Given the description of an element on the screen output the (x, y) to click on. 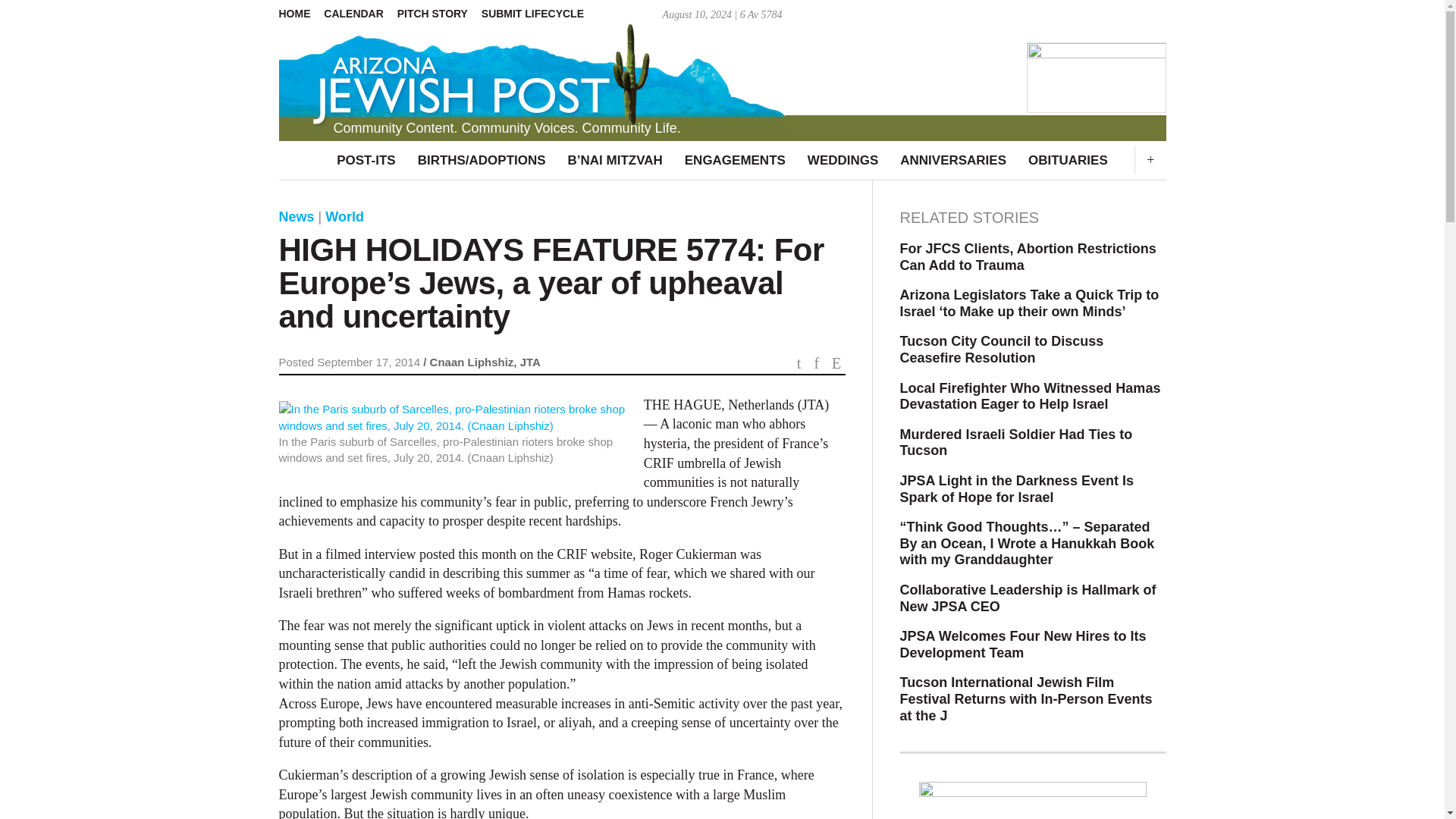
Tucson City Council to Discuss Ceasefire Resolution (1032, 349)
Tucson City Council to Discuss Ceasefire Resolution (1032, 349)
WEDDINGS (841, 160)
POST-ITS (365, 160)
JPSA Welcomes Four New Hires to Its Development Team (1032, 644)
OBITUARIES (1067, 160)
Collaborative Leadership is Hallmark of New JPSA CEO (1032, 598)
ANNIVERSARIES (952, 160)
